Given the description of an element on the screen output the (x, y) to click on. 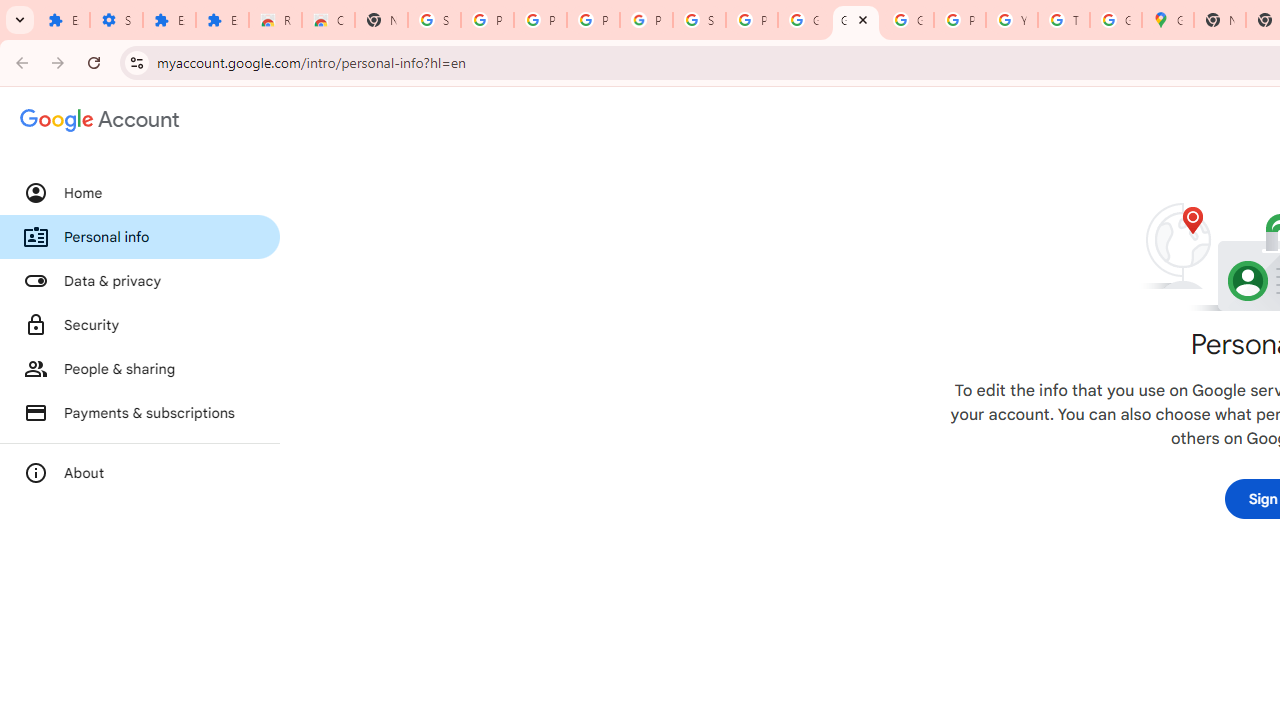
Chrome Web Store - Themes (328, 20)
New Tab (1219, 20)
Extensions (222, 20)
New Tab (381, 20)
Extensions (63, 20)
More information about the Google Account (140, 472)
Google Account settings (100, 120)
Google Account (803, 20)
